Given the description of an element on the screen output the (x, y) to click on. 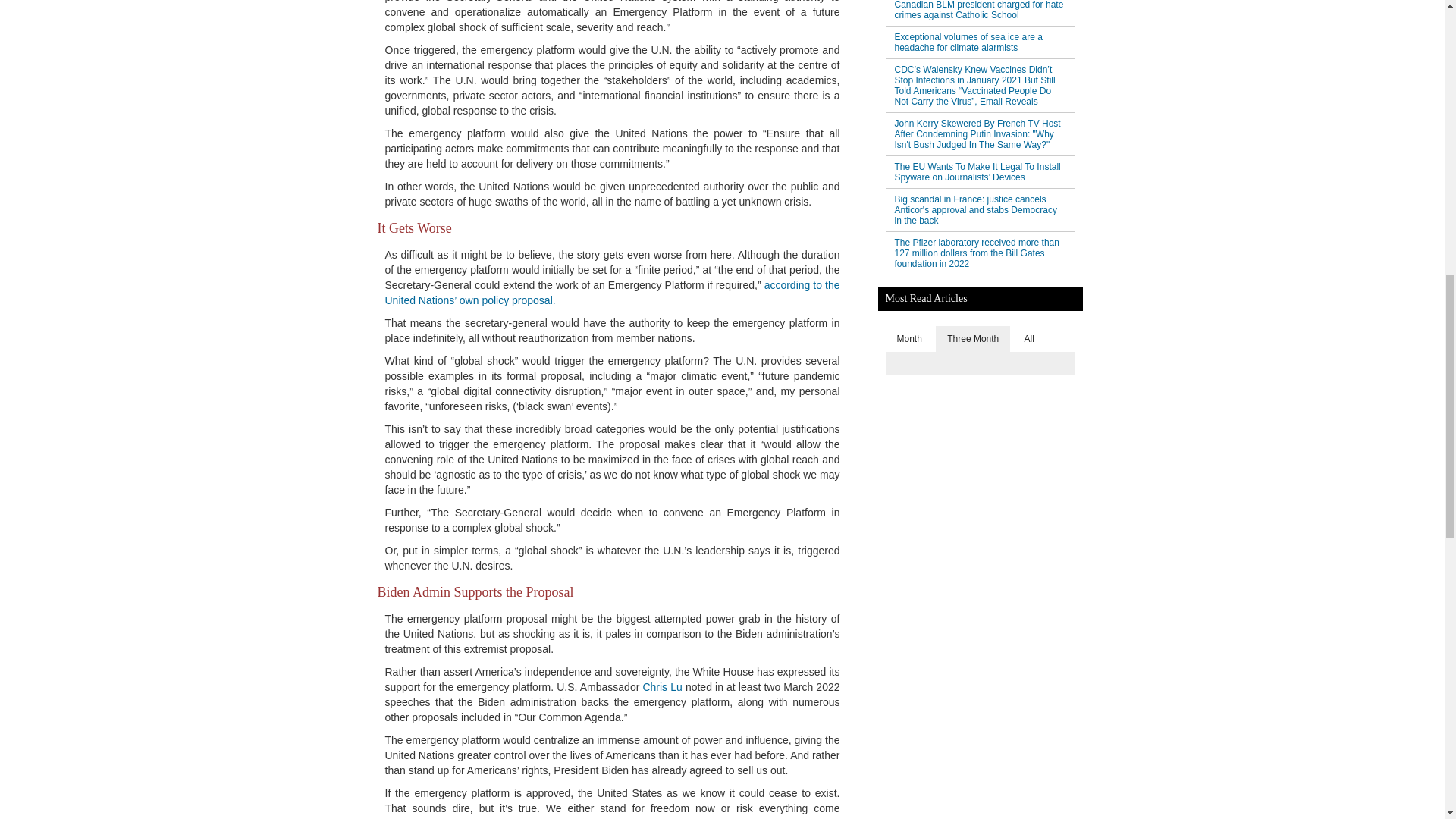
Chris Lu (661, 686)
